Given the description of an element on the screen output the (x, y) to click on. 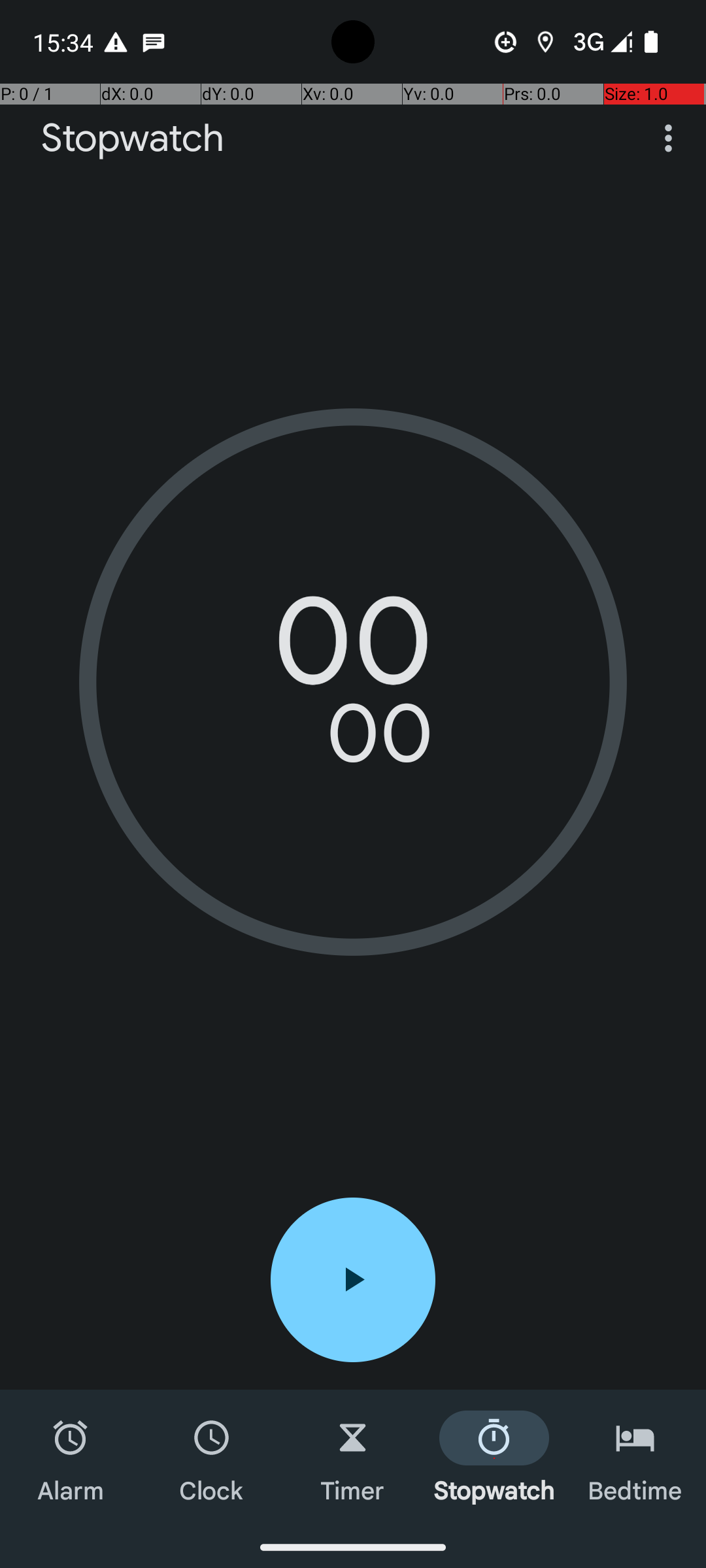
Stopwatch Element type: android.widget.TextView (132, 138)
Start Element type: android.widget.Button (352, 1279)
00 Element type: android.widget.TextView (352, 650)
Alarm Element type: android.widget.FrameLayout (70, 1457)
Clock Element type: android.widget.FrameLayout (211, 1457)
Timer Element type: android.widget.FrameLayout (352, 1457)
Bedtime Element type: android.widget.FrameLayout (635, 1457)
